Given the description of an element on the screen output the (x, y) to click on. 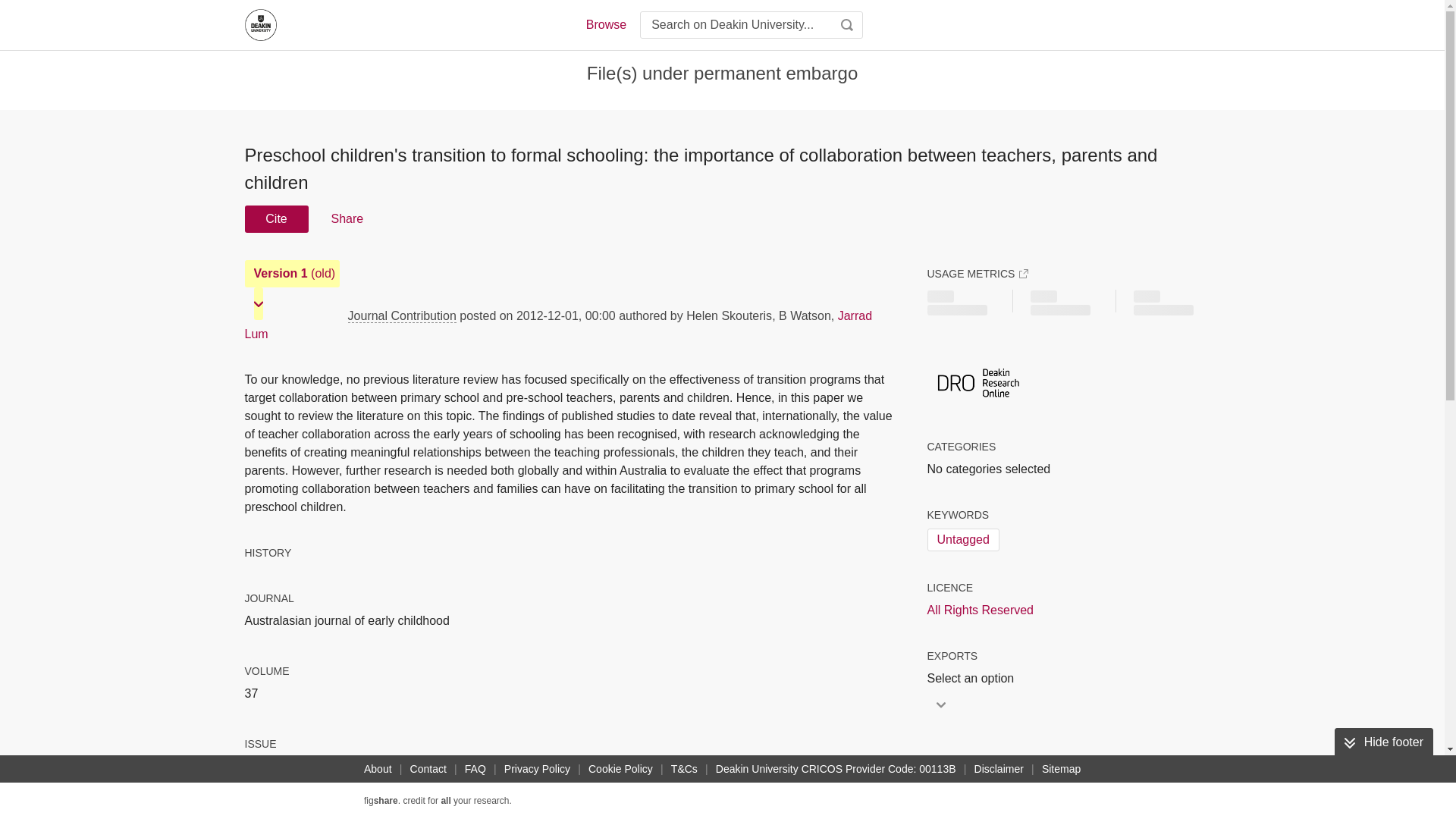
About (377, 769)
Disclaimer (998, 769)
Share (346, 218)
Contact (428, 769)
FAQ (475, 769)
All Rights Reserved (979, 610)
Deakin University CRICOS Provider Code: 00113B (835, 769)
Hide footer (1383, 742)
Jarrad Lum (558, 324)
Untagged (962, 539)
Privacy Policy (537, 769)
Sitemap (1060, 769)
Cookie Policy (620, 769)
USAGE METRICS (976, 273)
Cite (275, 218)
